Given the description of an element on the screen output the (x, y) to click on. 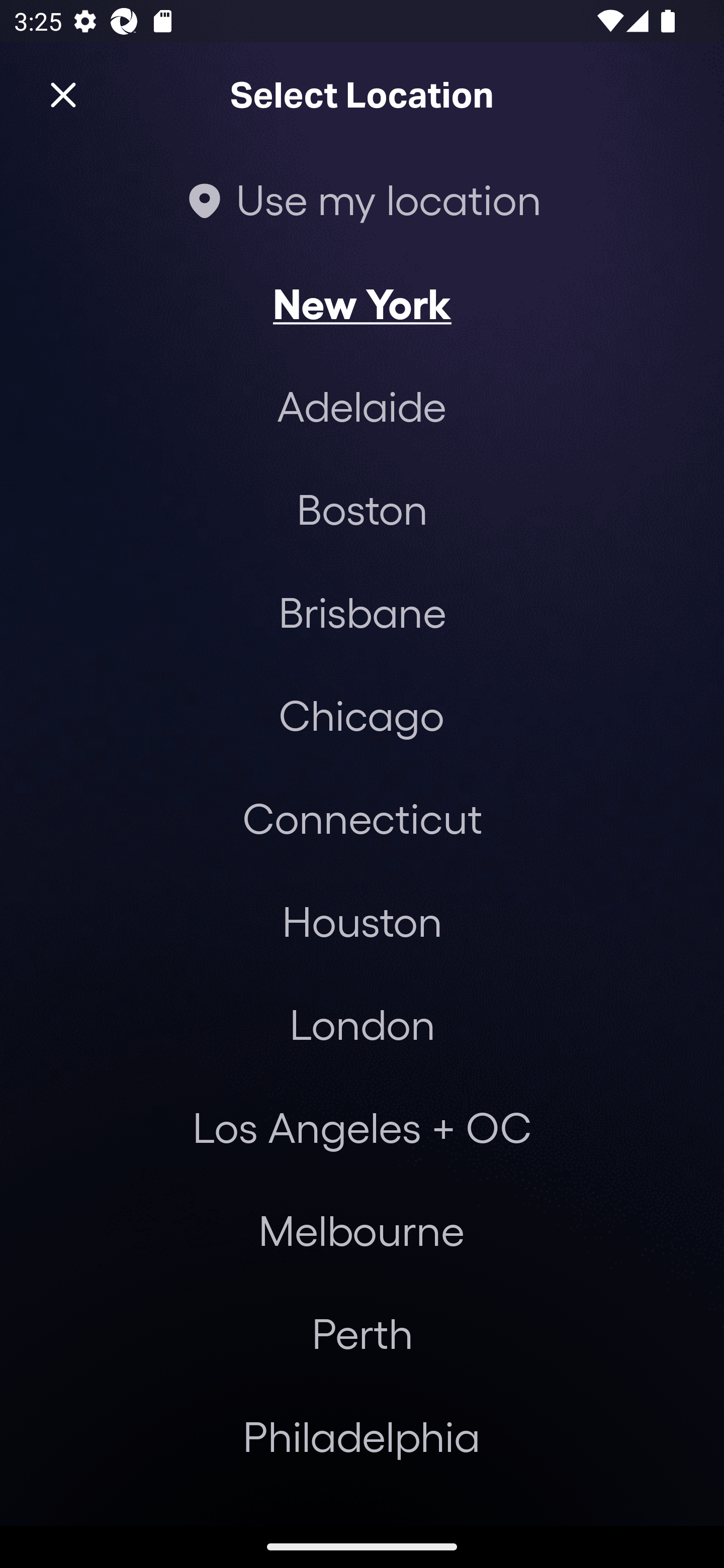
Close (62, 95)
   Use my location (362, 198)
New York (361, 302)
Adelaide (361, 405)
Boston (361, 508)
Brisbane (361, 611)
Chicago (361, 714)
Connecticut (361, 817)
Houston (361, 920)
London (361, 1023)
Los Angeles + OC (361, 1127)
Melbourne (361, 1230)
Perth (361, 1332)
Philadelphia (361, 1436)
